Given the description of an element on the screen output the (x, y) to click on. 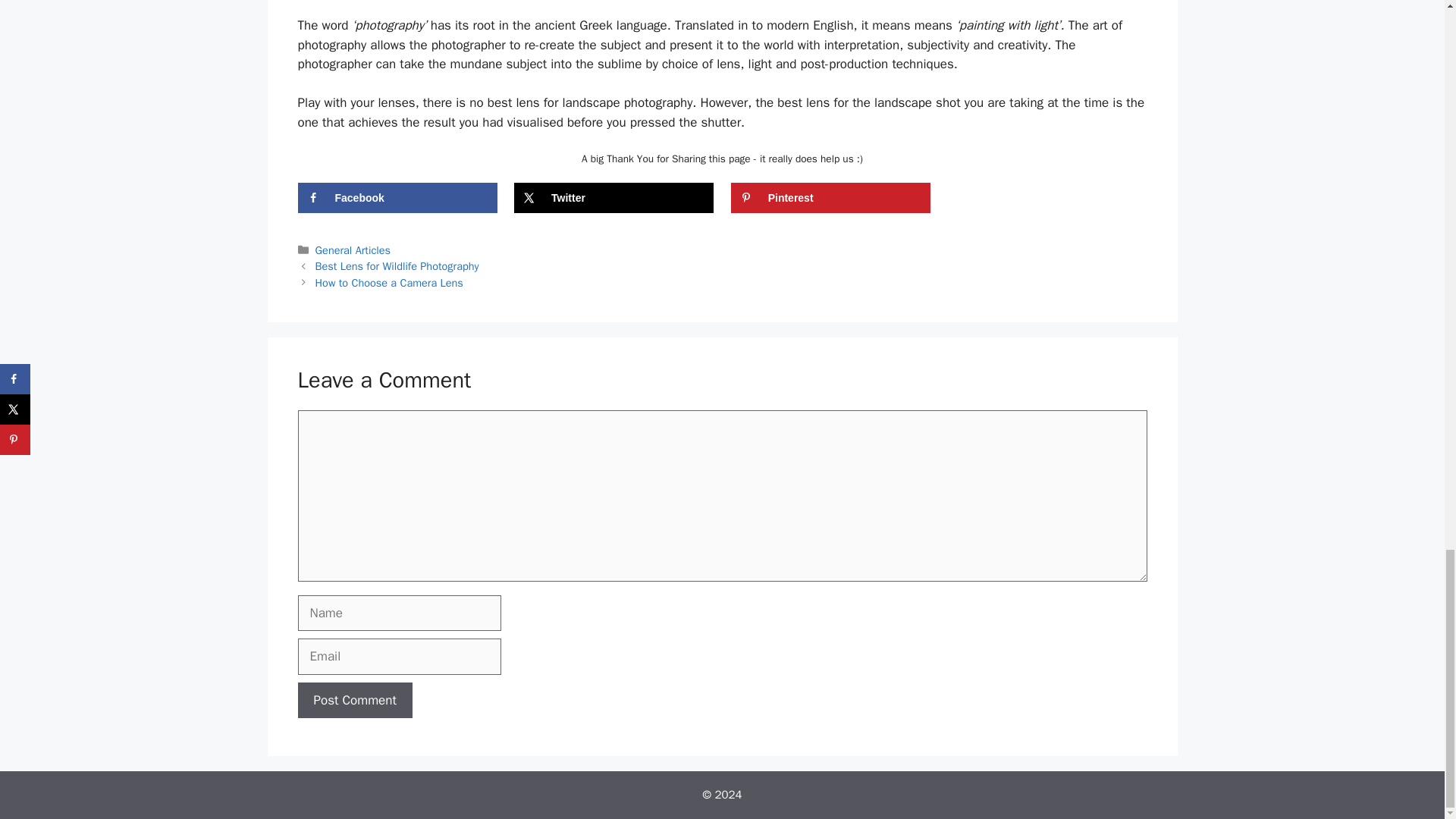
Post Comment (354, 700)
Post Comment (354, 700)
How to Choose a Camera Lens (389, 282)
Share on X (613, 197)
Best Lens for Wildlife Photography (397, 265)
Pinterest (830, 197)
Twitter (613, 197)
Facebook (396, 197)
Save to Pinterest (830, 197)
Share on Facebook (396, 197)
